Given the description of an element on the screen output the (x, y) to click on. 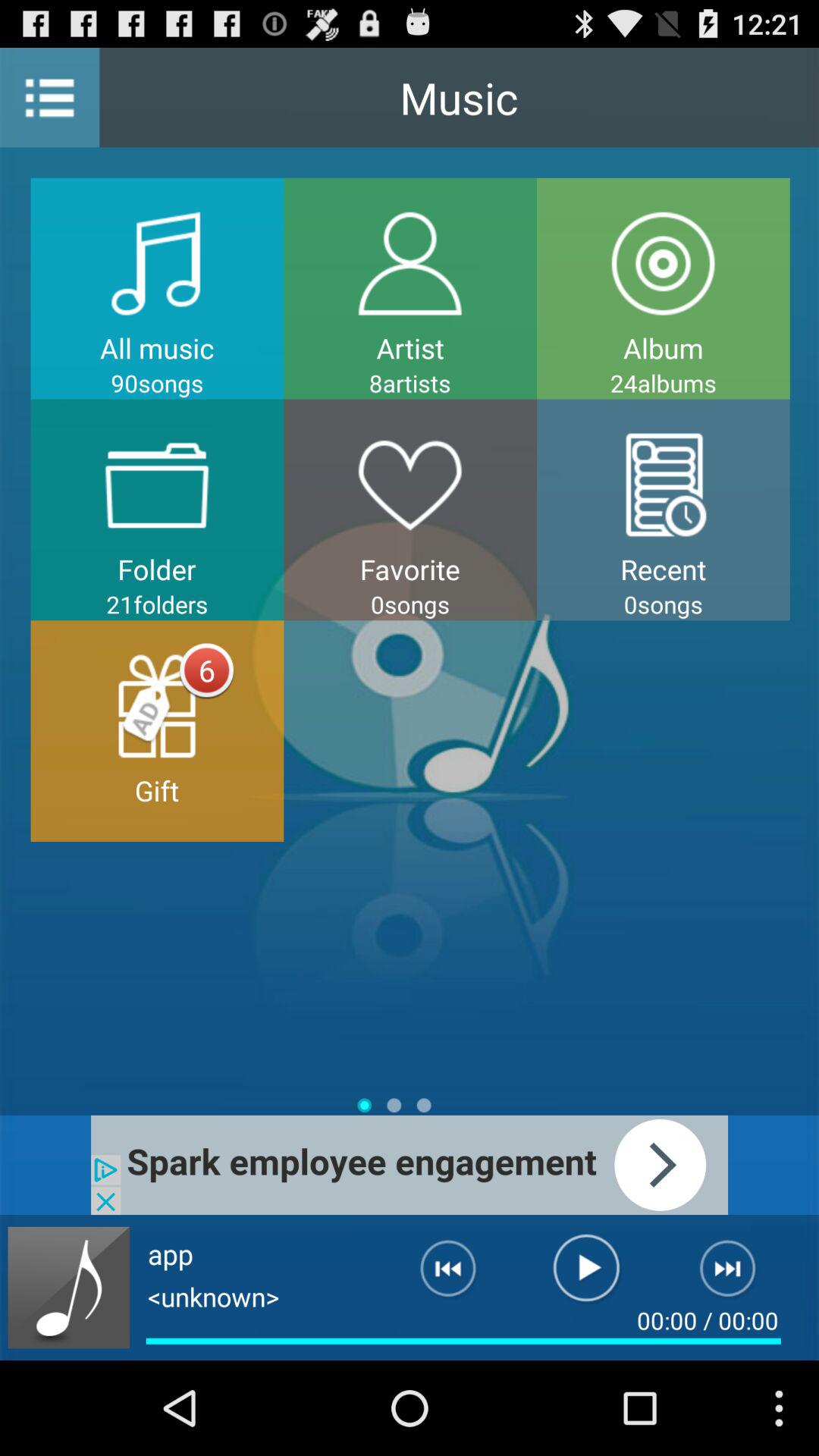
advertisement banner (409, 1164)
